Given the description of an element on the screen output the (x, y) to click on. 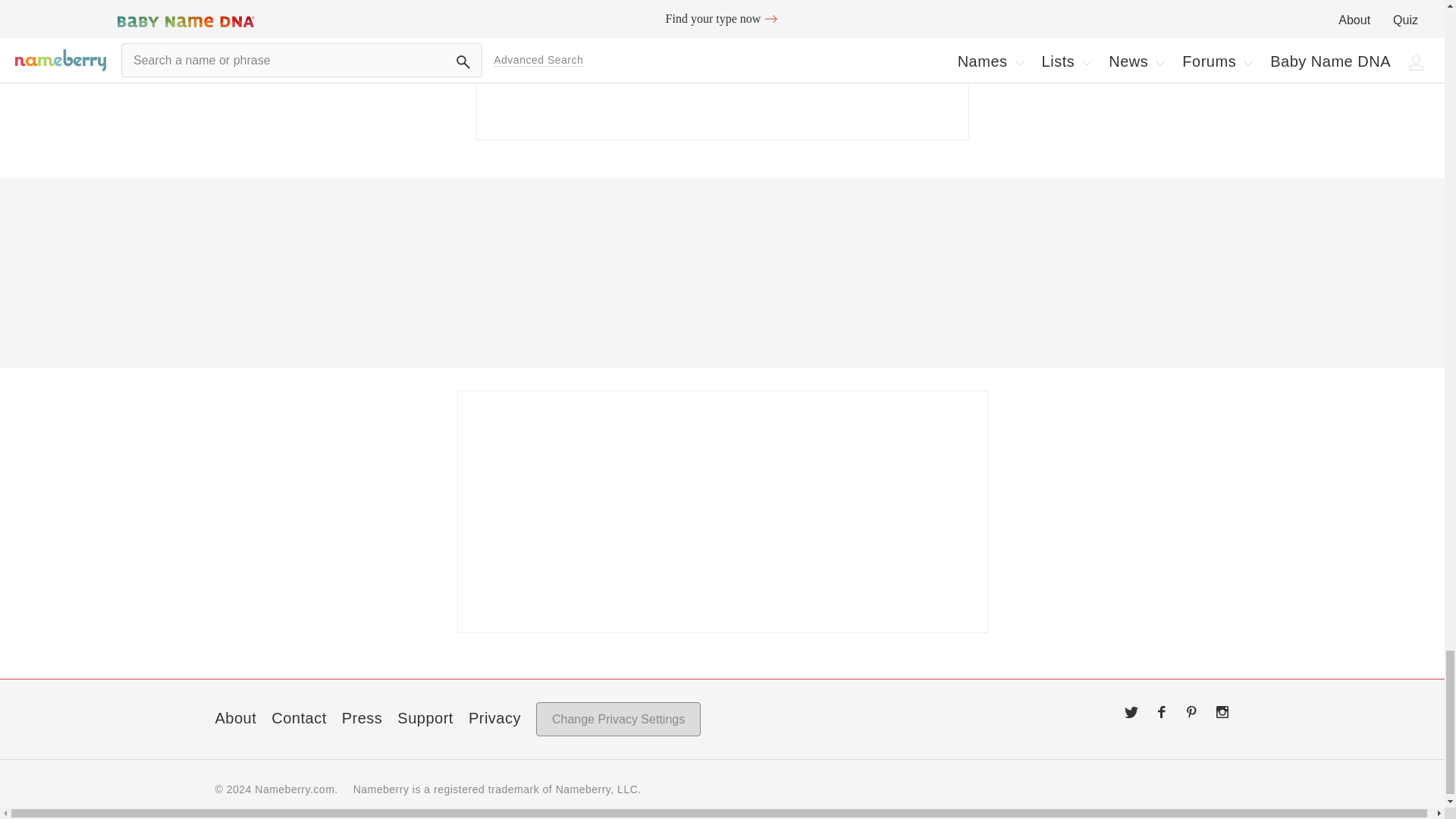
Instagram (1222, 711)
Twitter (1131, 711)
Facebook (1161, 711)
Sign up for the Nameberry Newsletter (722, 70)
Sign up for the Nameberry Newsletter (722, 511)
Pinterest (1192, 711)
